Given the description of an element on the screen output the (x, y) to click on. 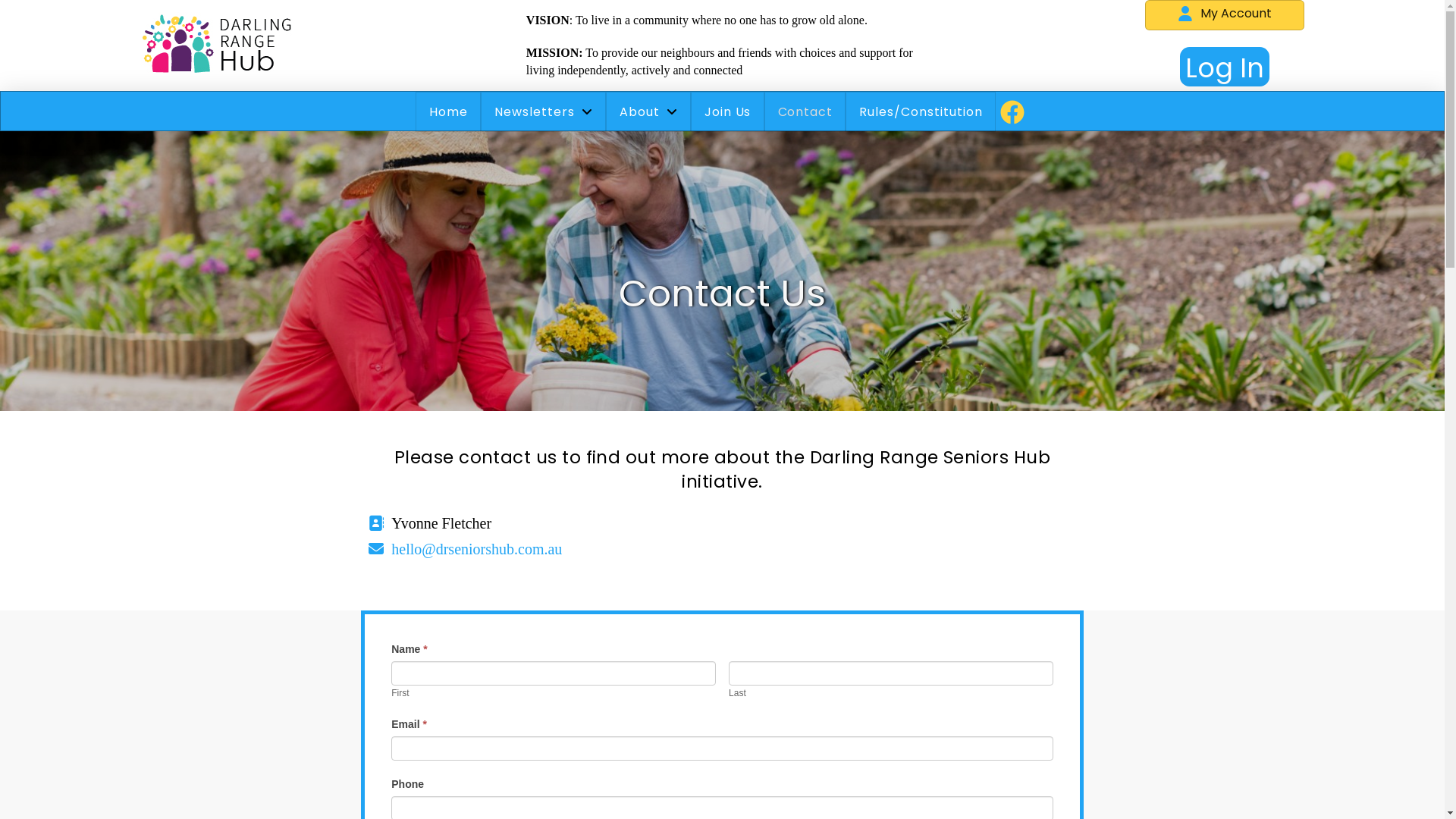
Log In Element type: text (1224, 66)
Rules/Constitution Element type: text (919, 111)
Contact Element type: text (805, 111)
About Element type: text (647, 111)
Join Us Element type: text (727, 111)
Newsletters Element type: text (542, 111)
My Account Element type: text (1224, 15)
hello@drseniorshub.com.au Element type: text (476, 548)
Home Element type: text (447, 111)
